Given the description of an element on the screen output the (x, y) to click on. 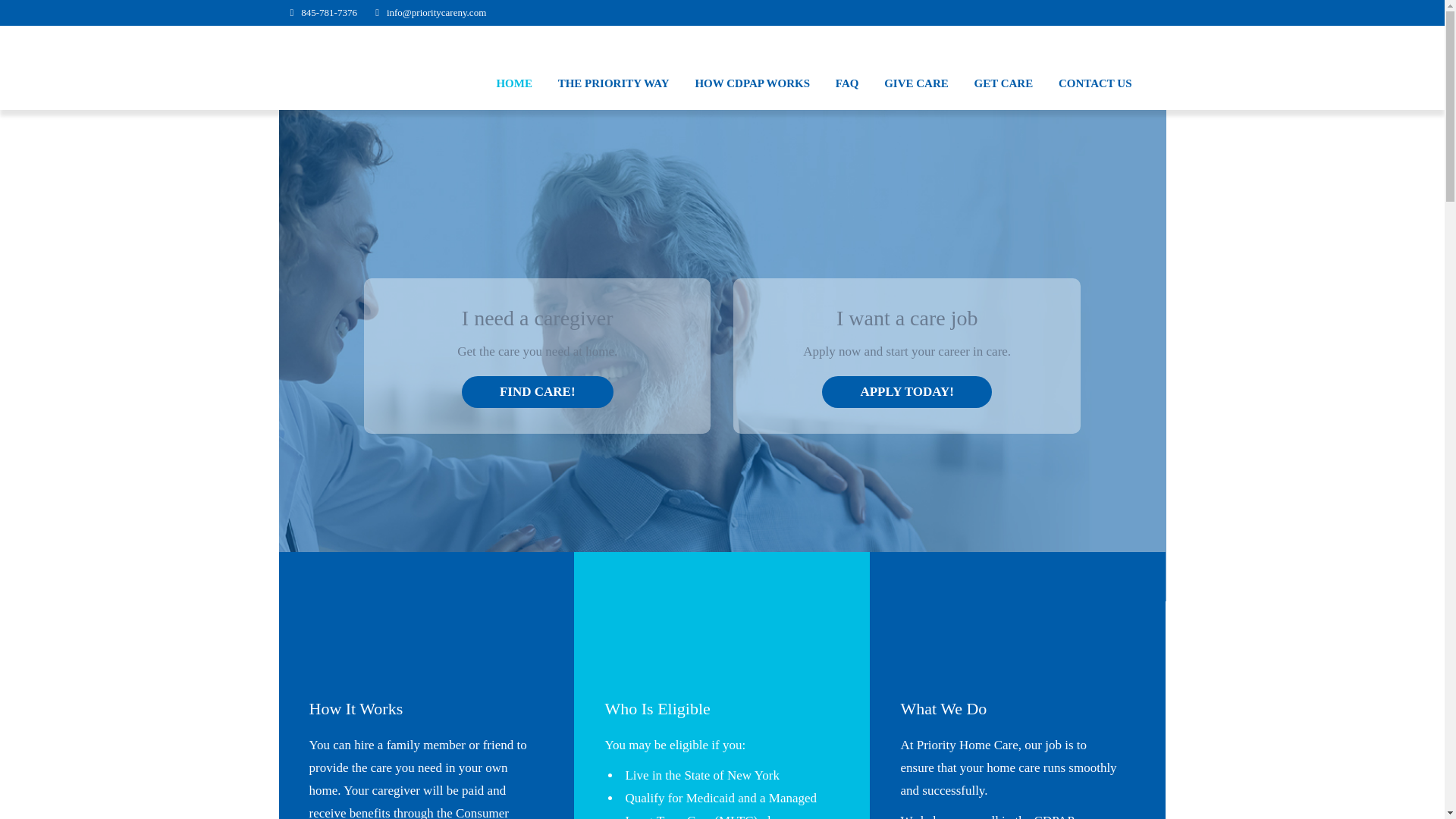
GIVE CARE (916, 83)
APPLY TODAY! (906, 391)
GET CARE (1003, 83)
Get In Touch To Enroll (633, 644)
Learn More About CDPAP (355, 708)
HOW CDPAP WORKS (751, 83)
Who Is Eligible (657, 708)
Learn More About Us (943, 708)
What We Do (943, 708)
Learn More About CDPAP (338, 644)
845-781-7376 (328, 12)
How It Works (355, 708)
FIND CARE! (536, 391)
THE PRIORITY WAY (613, 83)
Get In Touch To Enroll (657, 708)
